Given the description of an element on the screen output the (x, y) to click on. 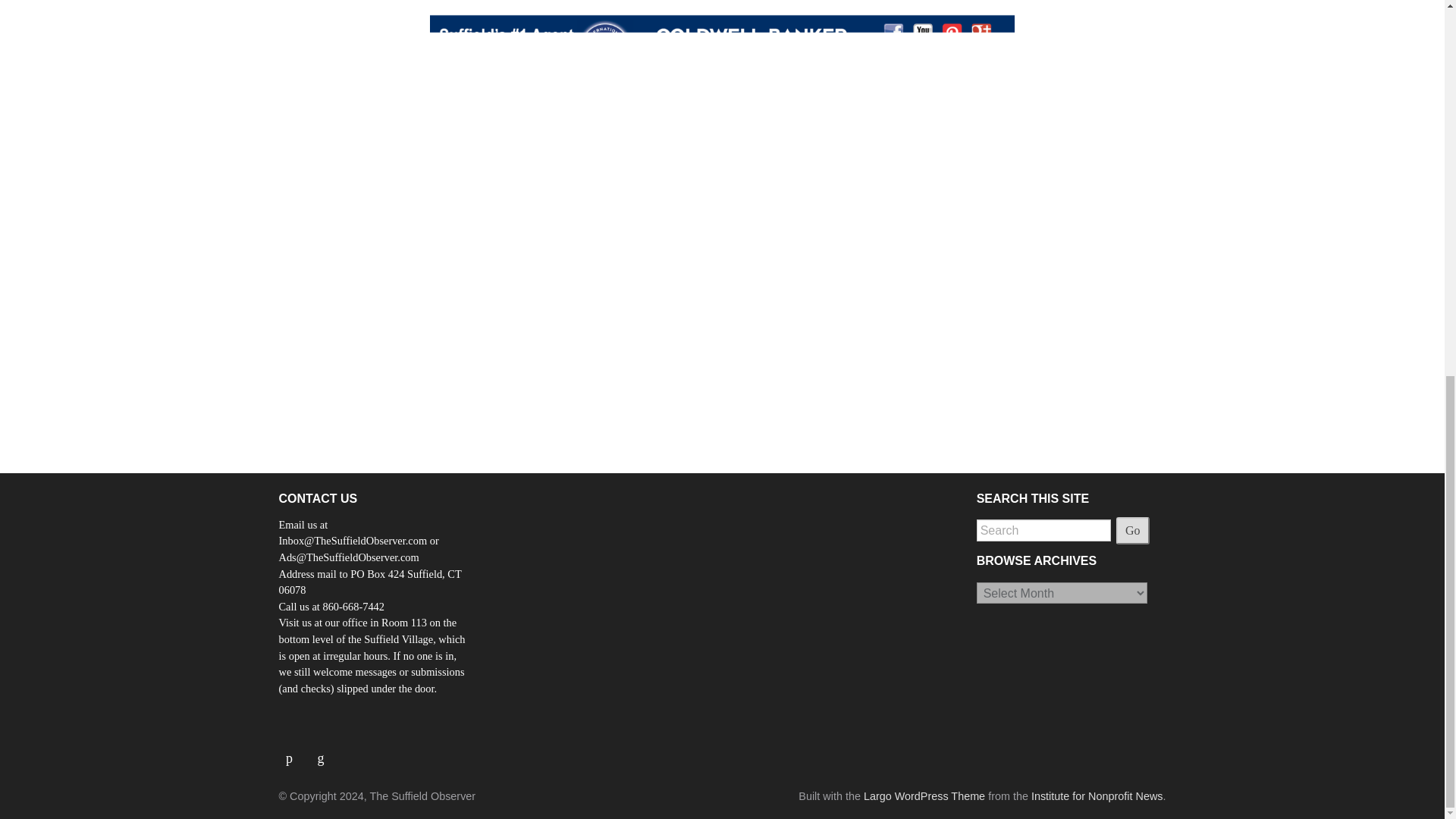
Link to Facebook Profile (295, 751)
Link to RSS Feed (322, 751)
